Given the description of an element on the screen output the (x, y) to click on. 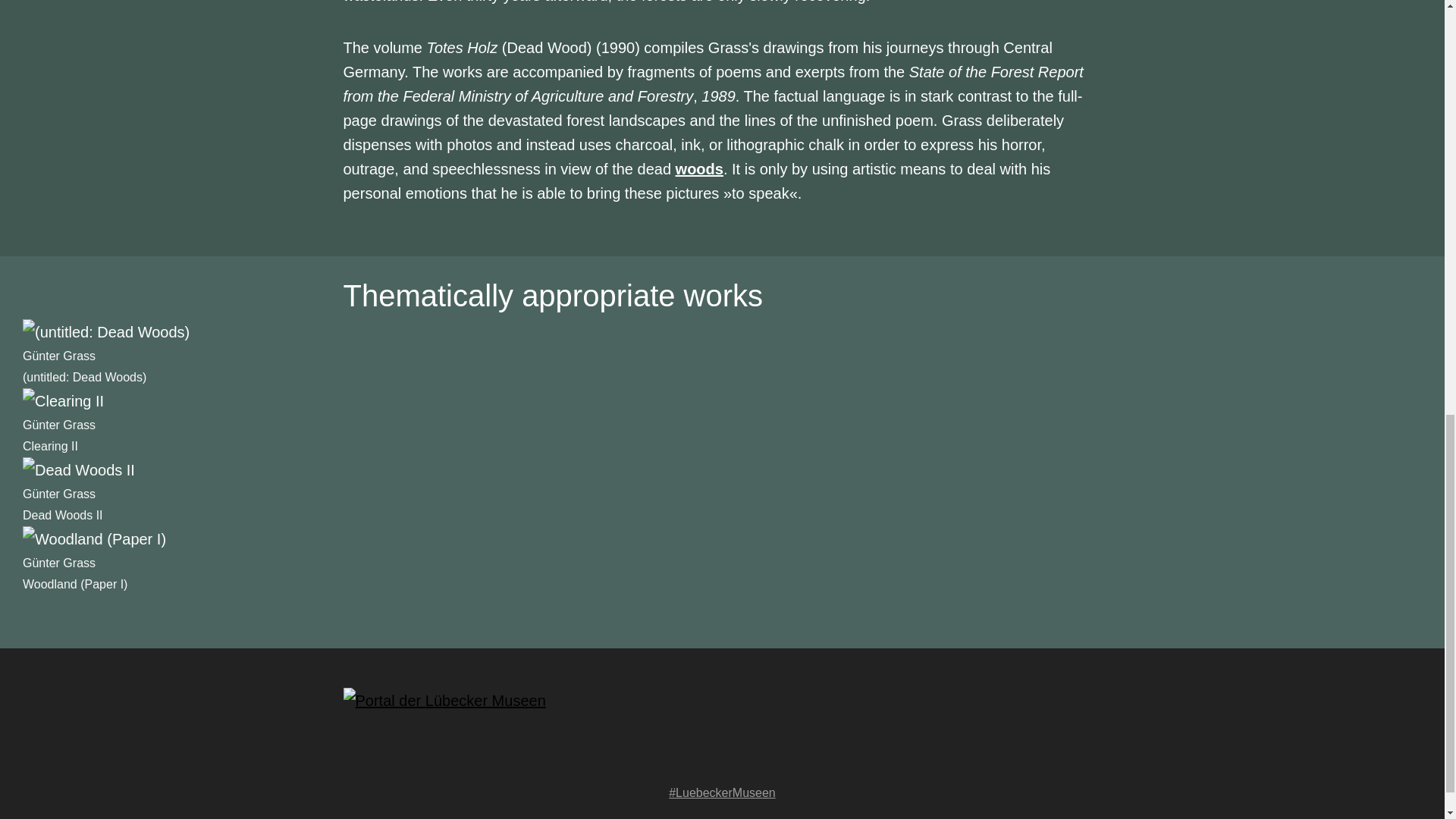
Facebook (691, 755)
Rate us on Tripadvisor (782, 755)
Tripadvisor (782, 755)
woods (699, 168)
Visit us at Instagram (721, 755)
Visit us on Facebook (691, 755)
youtube (751, 755)
Visit us on Youtube (751, 755)
Instagram (721, 755)
